Given the description of an element on the screen output the (x, y) to click on. 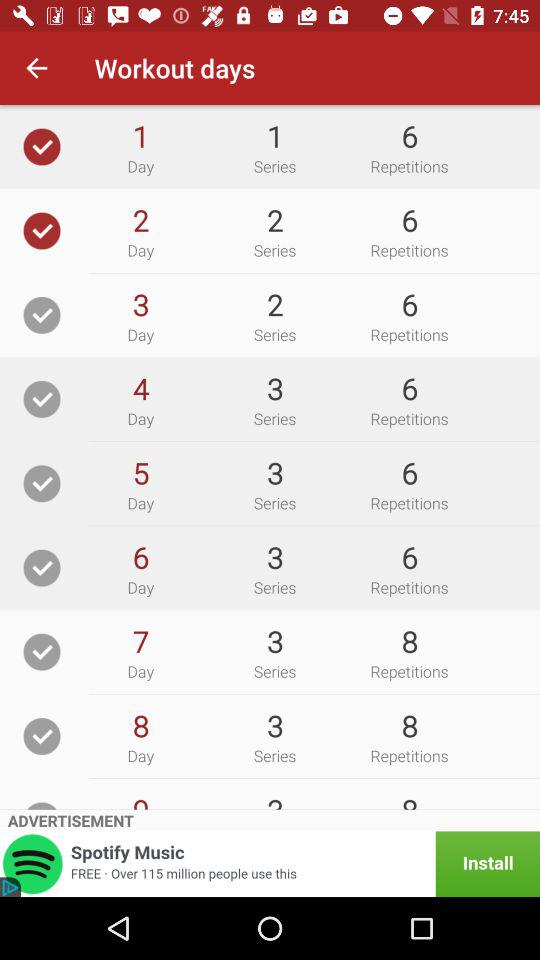
check off workout day 2 (41, 230)
